Given the description of an element on the screen output the (x, y) to click on. 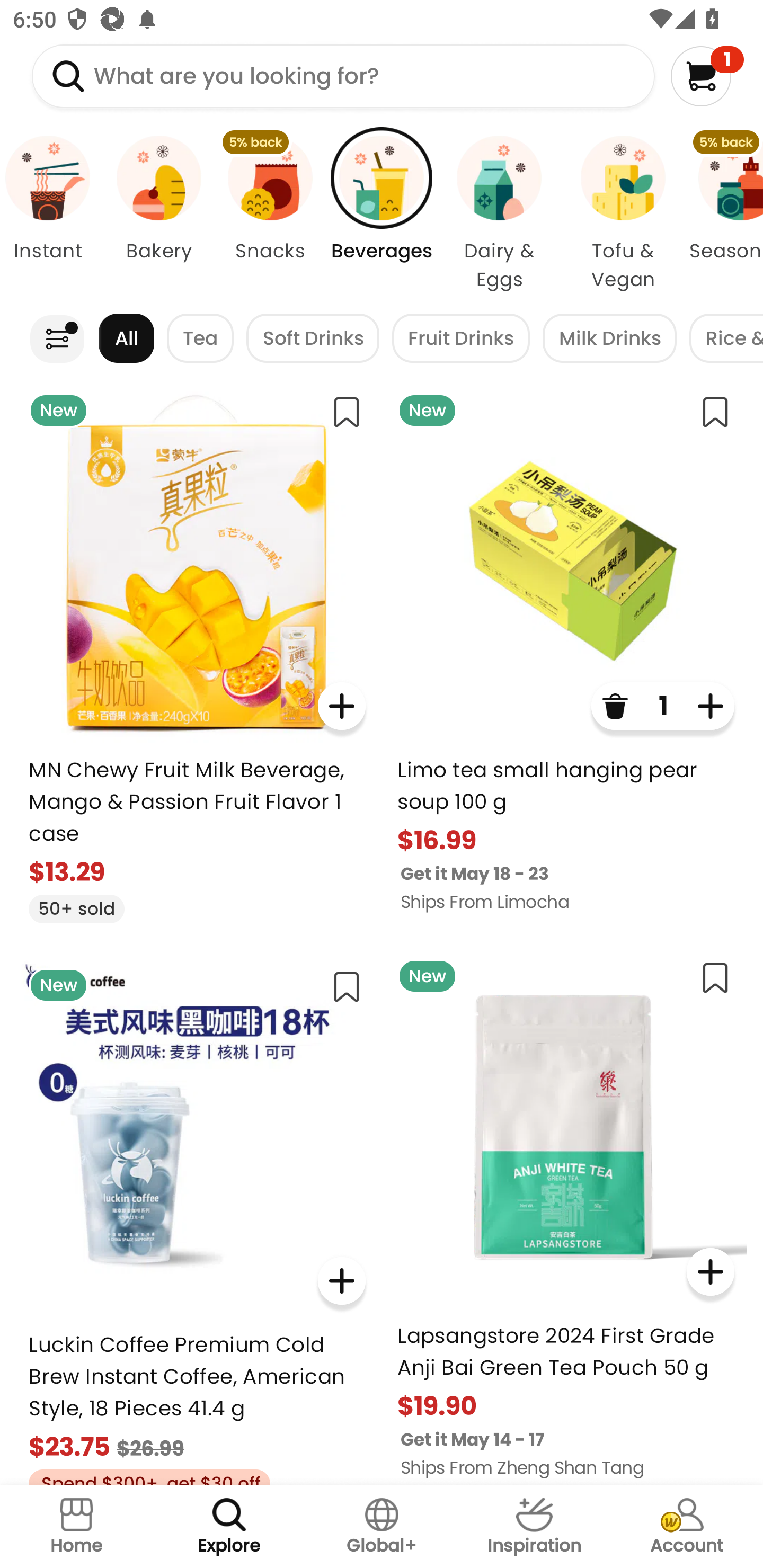
What are you looking for? (343, 75)
1 (706, 75)
Instant (51, 214)
Bakery (158, 214)
5% back Snacks (269, 214)
Beverages (381, 214)
Dairy & Eggs (498, 214)
Tofu & Vegan (622, 214)
5% back Seasoning (724, 214)
All (126, 337)
Tea (200, 337)
Soft Drinks (312, 337)
Fruit Drinks (460, 337)
Milk Drinks (609, 337)
Rice & Soy Drinks (725, 337)
Home (76, 1526)
Explore (228, 1526)
Global+ (381, 1526)
Inspiration (533, 1526)
Account (686, 1526)
